Given the description of an element on the screen output the (x, y) to click on. 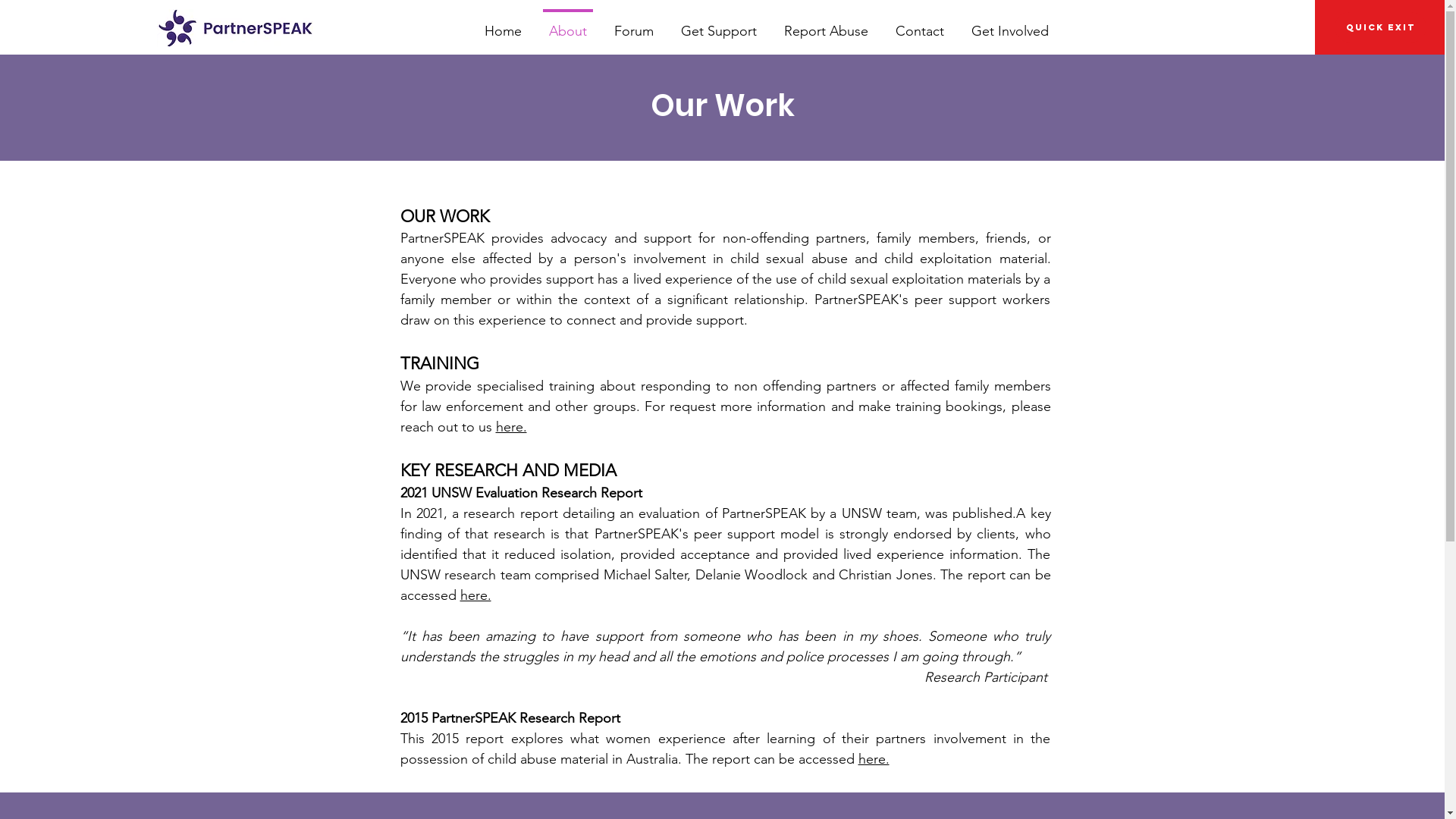
here. Element type: text (474, 594)
About Element type: text (567, 24)
here. Element type: text (873, 758)
Get Support Element type: text (718, 24)
Get Involved Element type: text (1009, 24)
Forum Element type: text (633, 24)
here. Element type: text (511, 426)
QUICK EXIT Element type: text (1380, 27)
Contact Element type: text (919, 24)
Home Element type: text (502, 24)
Report Abuse Element type: text (825, 24)
